Given the description of an element on the screen output the (x, y) to click on. 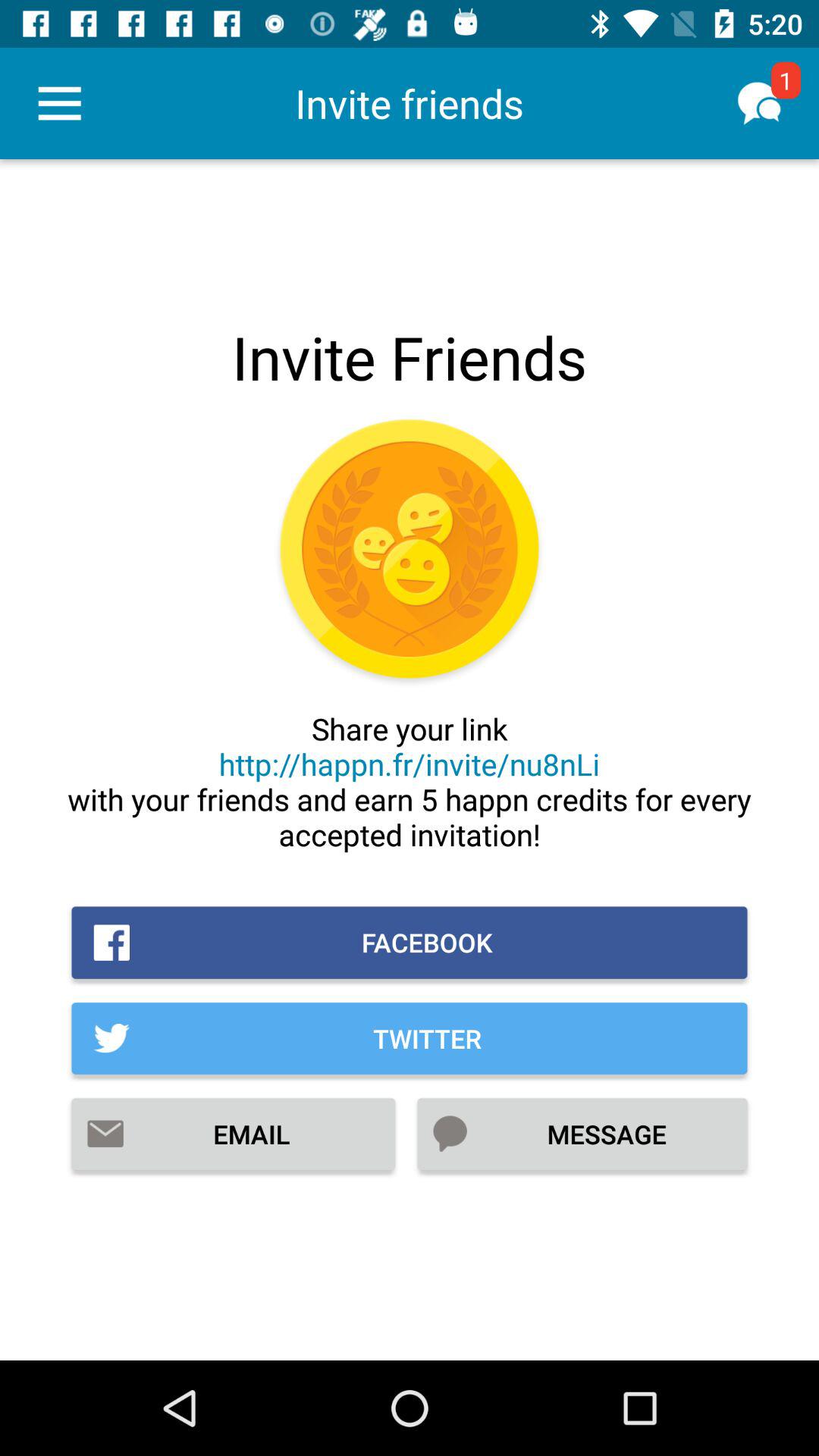
open item above the facebook (409, 781)
